Given the description of an element on the screen output the (x, y) to click on. 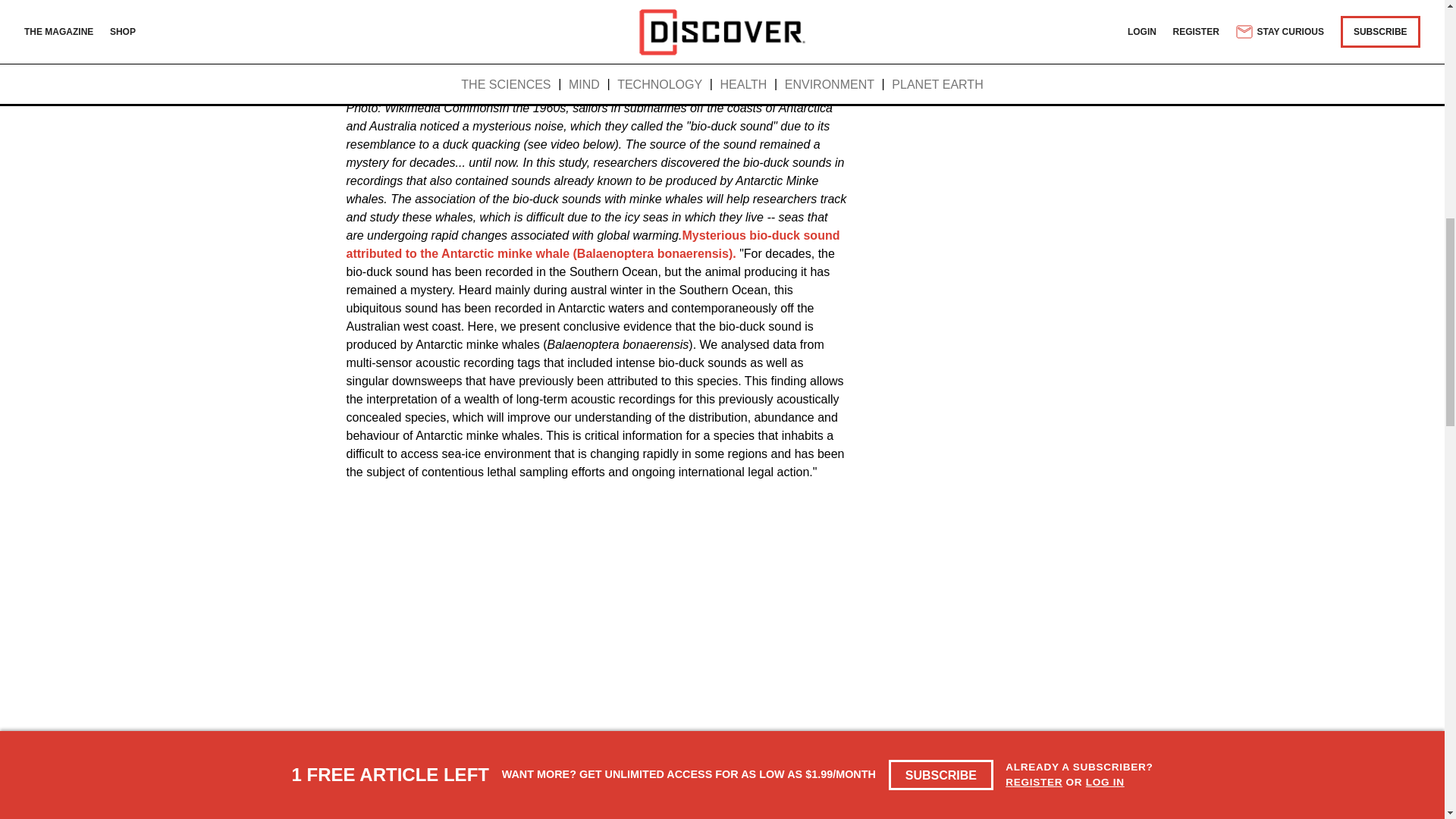
Holy carp! Fish can use tools too! (588, 813)
Intense dead fish smell proven no excuse for not working. (552, 813)
Audio Article (590, 55)
